Given the description of an element on the screen output the (x, y) to click on. 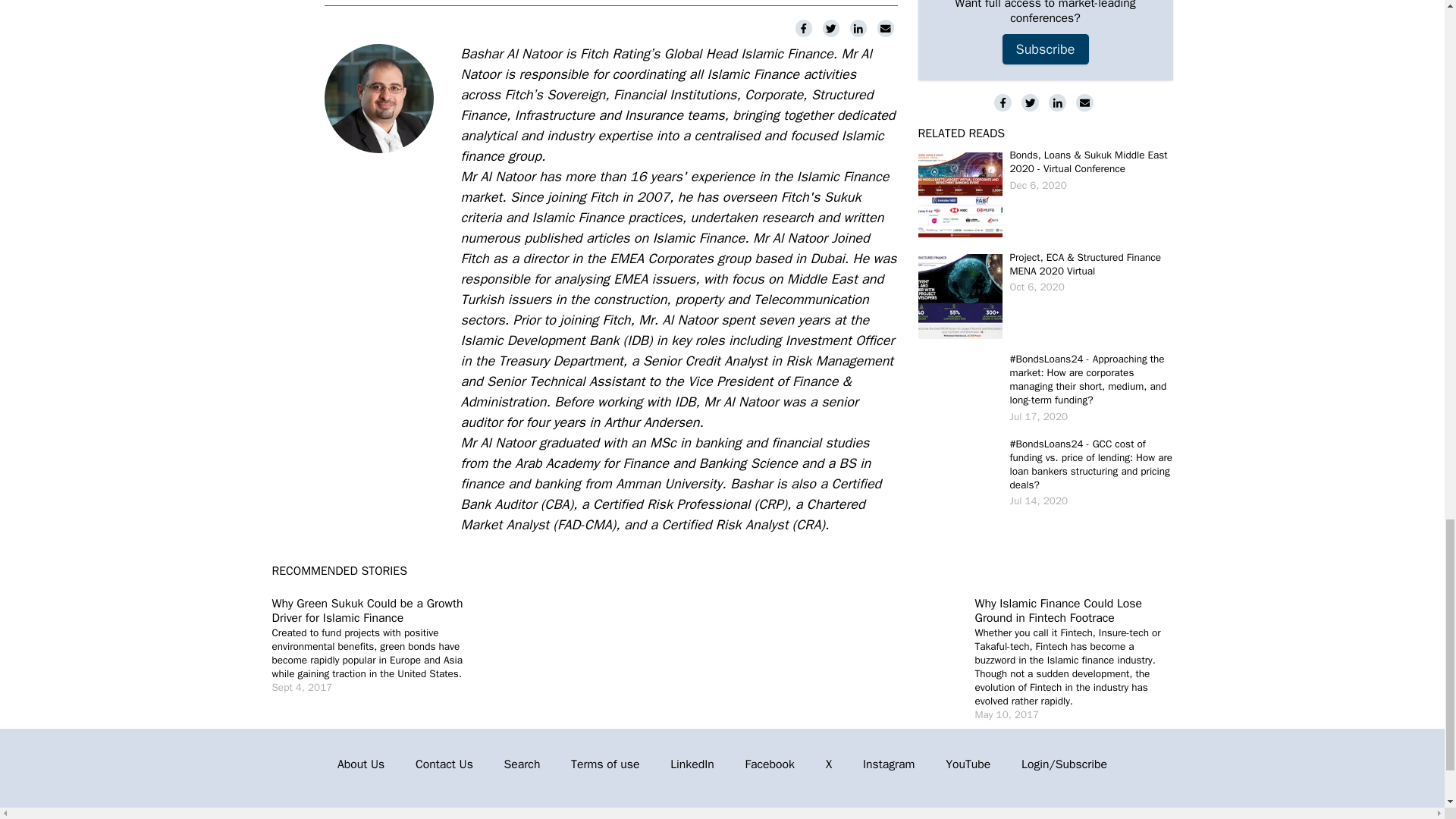
Share this article on LinkedIn (858, 27)
Email a link to this article (886, 27)
Why Green Sukuk Could be a Growth Driver for Islamic Finance (366, 611)
Share this article on Facebook (804, 27)
Share this article on Twitter (832, 27)
About Us (360, 764)
Why Islamic Finance Could Lose Ground in Fintech Footrace (1058, 611)
